Given the description of an element on the screen output the (x, y) to click on. 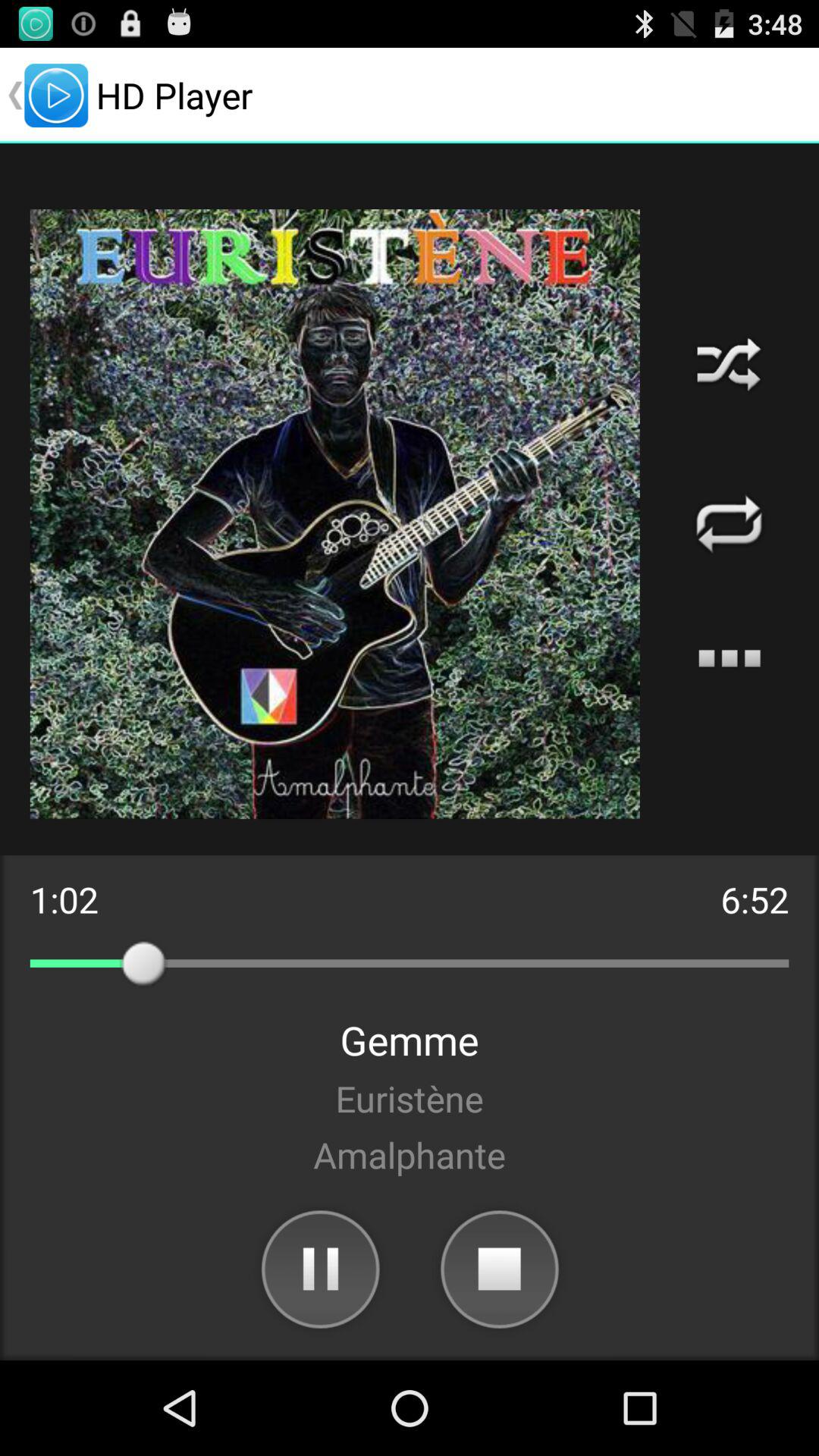
scroll to the gemme icon (409, 1039)
